Given the description of an element on the screen output the (x, y) to click on. 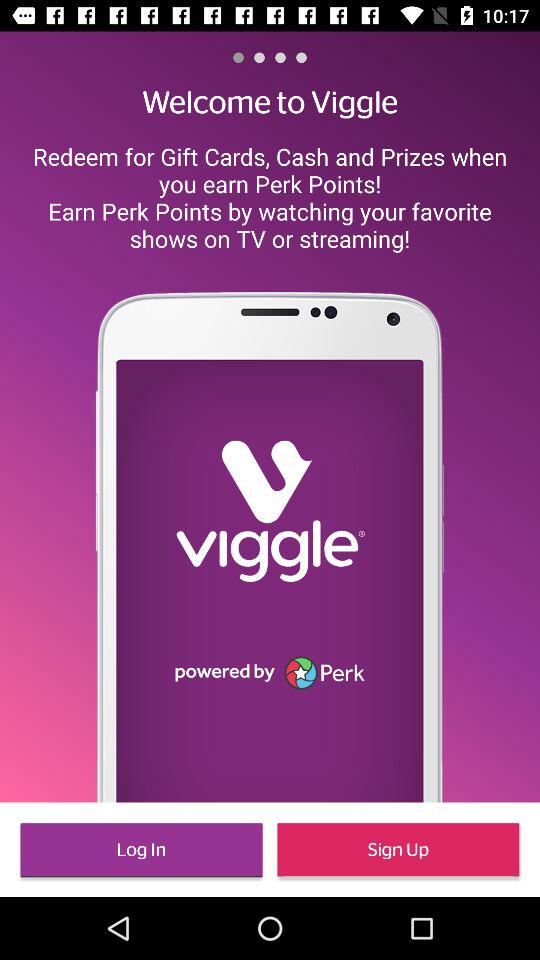
flip until log in icon (141, 849)
